Given the description of an element on the screen output the (x, y) to click on. 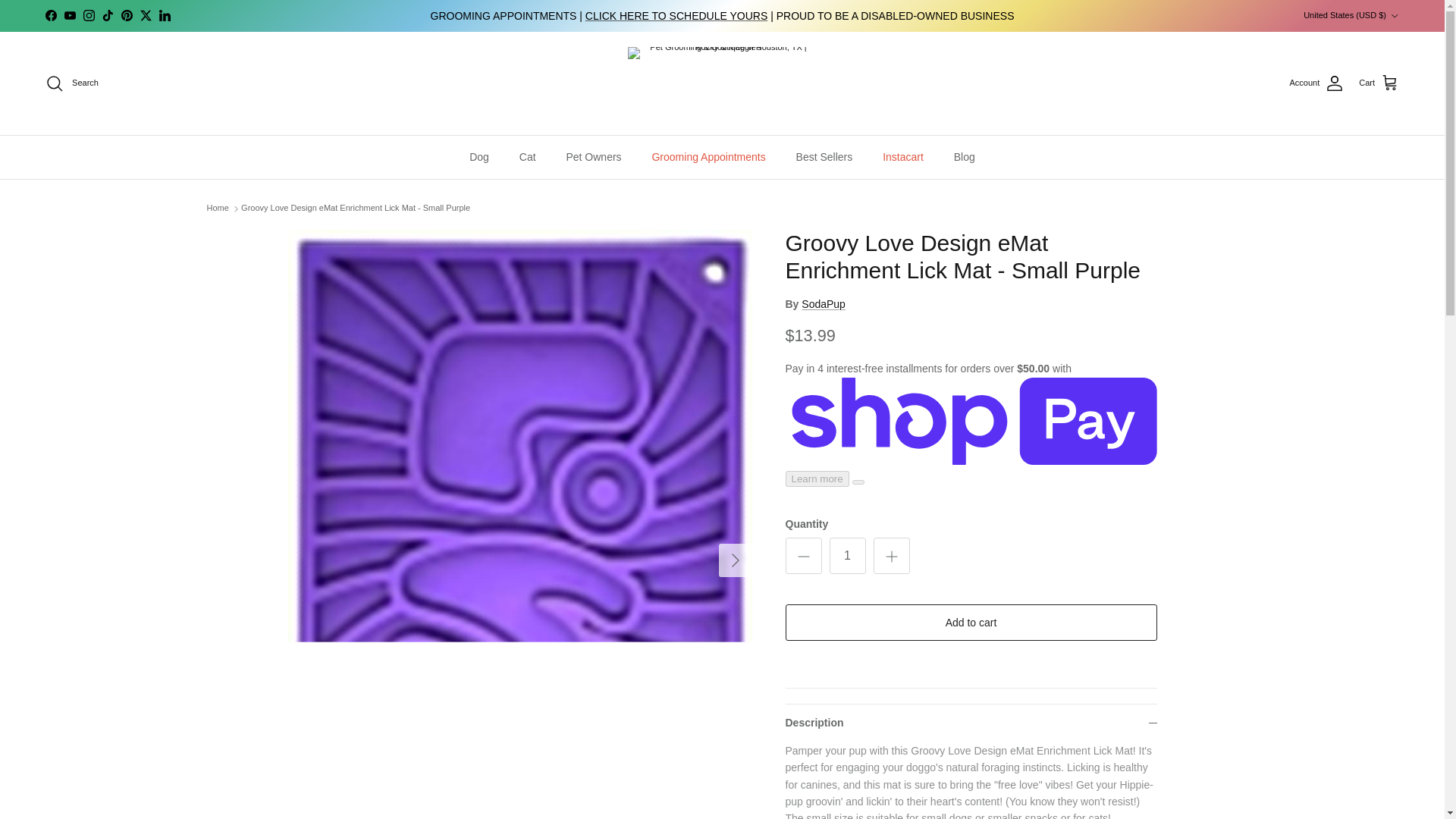
Pinterest (126, 15)
1 (847, 555)
Cart (1378, 83)
LinkedIn (164, 15)
YouTube (69, 15)
Facebook (50, 15)
Instagram (88, 15)
Book a pet grooming appointment (676, 15)
CLICK HERE TO SCHEDULE YOURS (676, 15)
TikTok (107, 15)
Twitter (145, 15)
Account (1315, 83)
Dog (478, 157)
Cat (527, 157)
Search (72, 83)
